Given the description of an element on the screen output the (x, y) to click on. 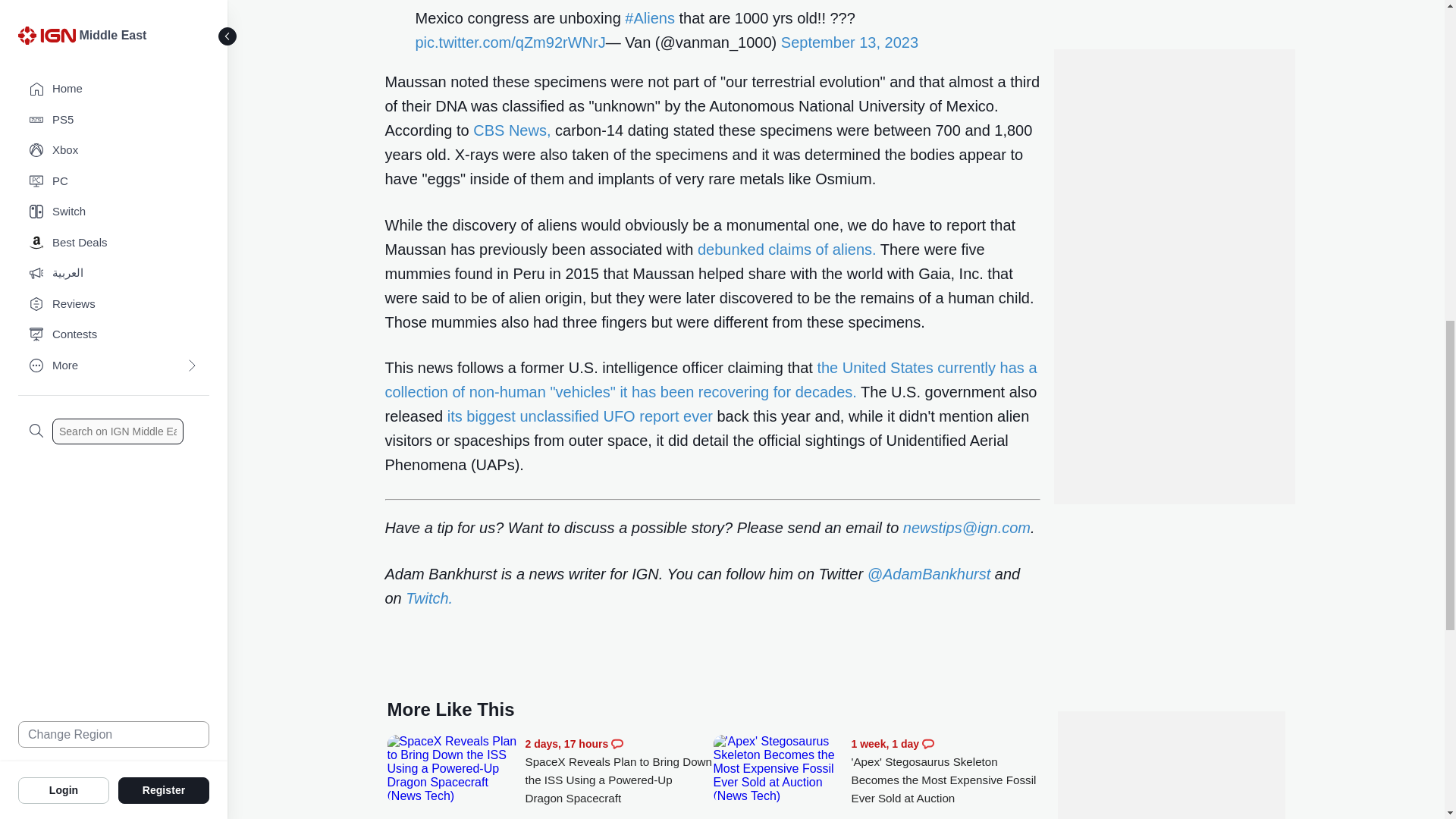
Comments (927, 743)
Comments (617, 743)
